Given the description of an element on the screen output the (x, y) to click on. 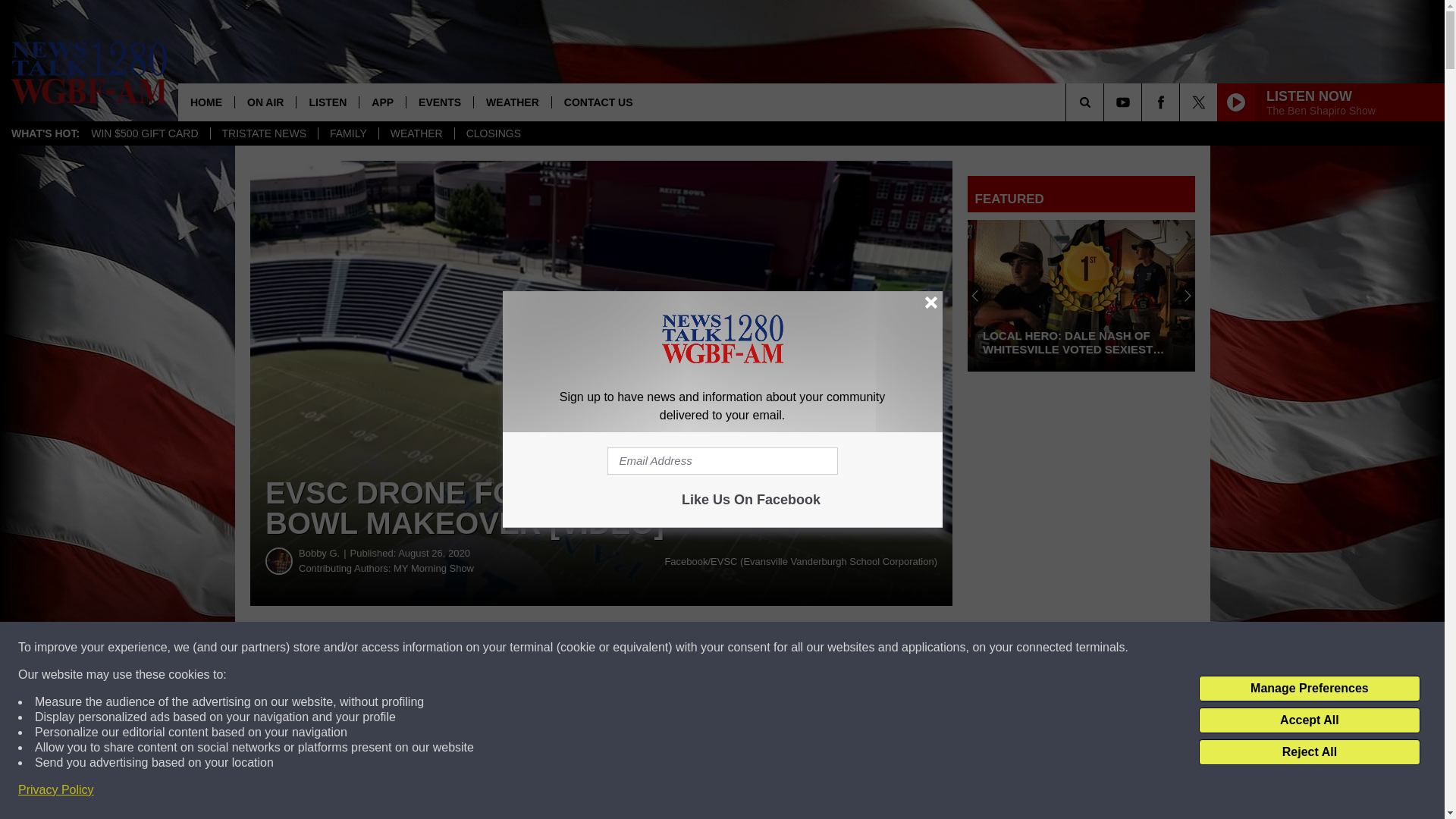
Share on Facebook (460, 647)
SEARCH (1106, 102)
Manage Preferences (1309, 688)
ON AIR (264, 102)
EVENTS (439, 102)
Email Address (722, 461)
LISTEN (326, 102)
Share on Twitter (741, 647)
APP (382, 102)
CLOSINGS (493, 133)
Reject All (1309, 751)
Accept All (1309, 720)
SEARCH (1106, 102)
FAMILY (347, 133)
TRISTATE NEWS (263, 133)
